Given the description of an element on the screen output the (x, y) to click on. 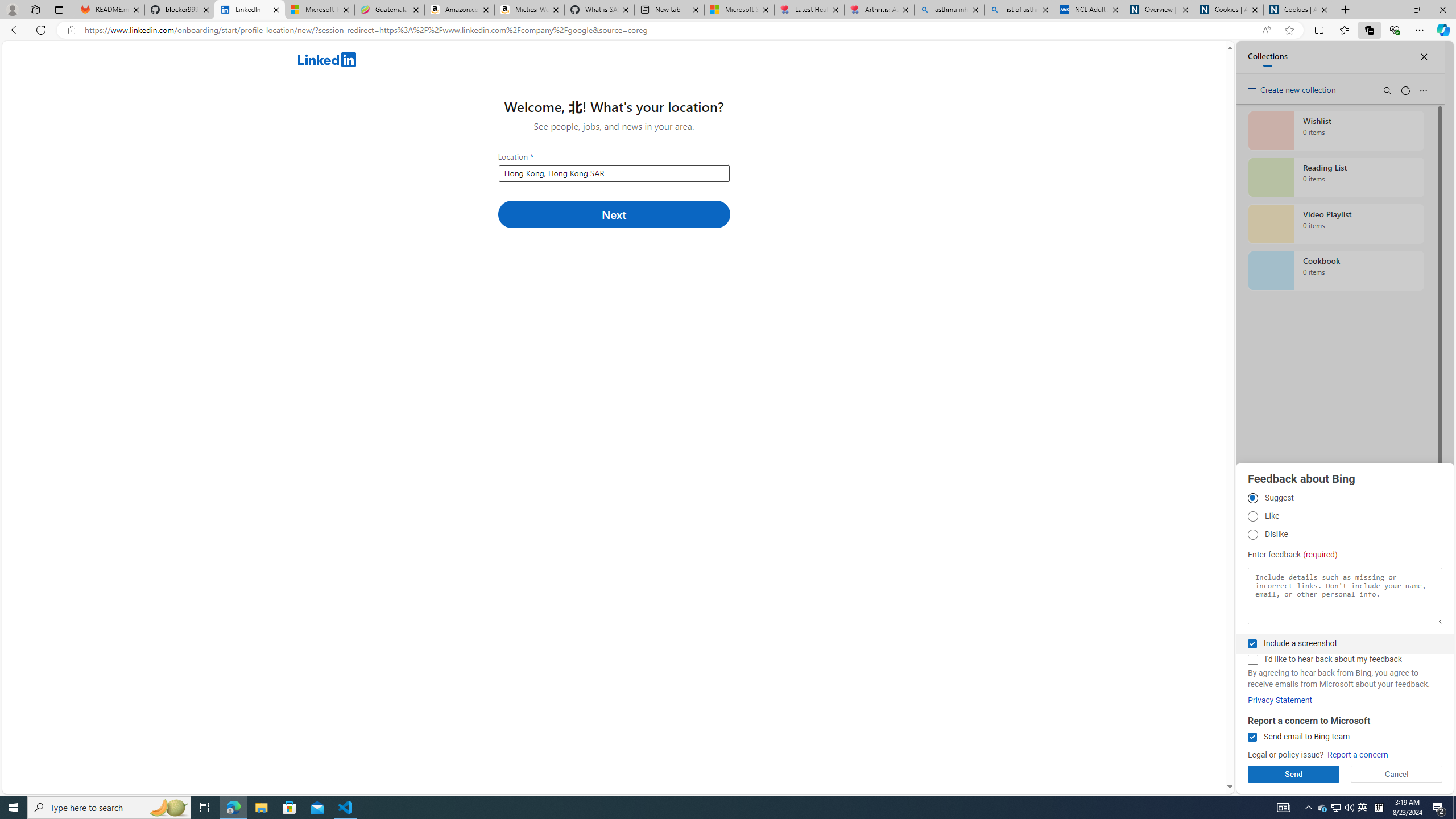
Cookies | About | NICE (1297, 9)
Send email to Bing team (1251, 737)
Like (1252, 516)
Suggest (1252, 498)
